Given the description of an element on the screen output the (x, y) to click on. 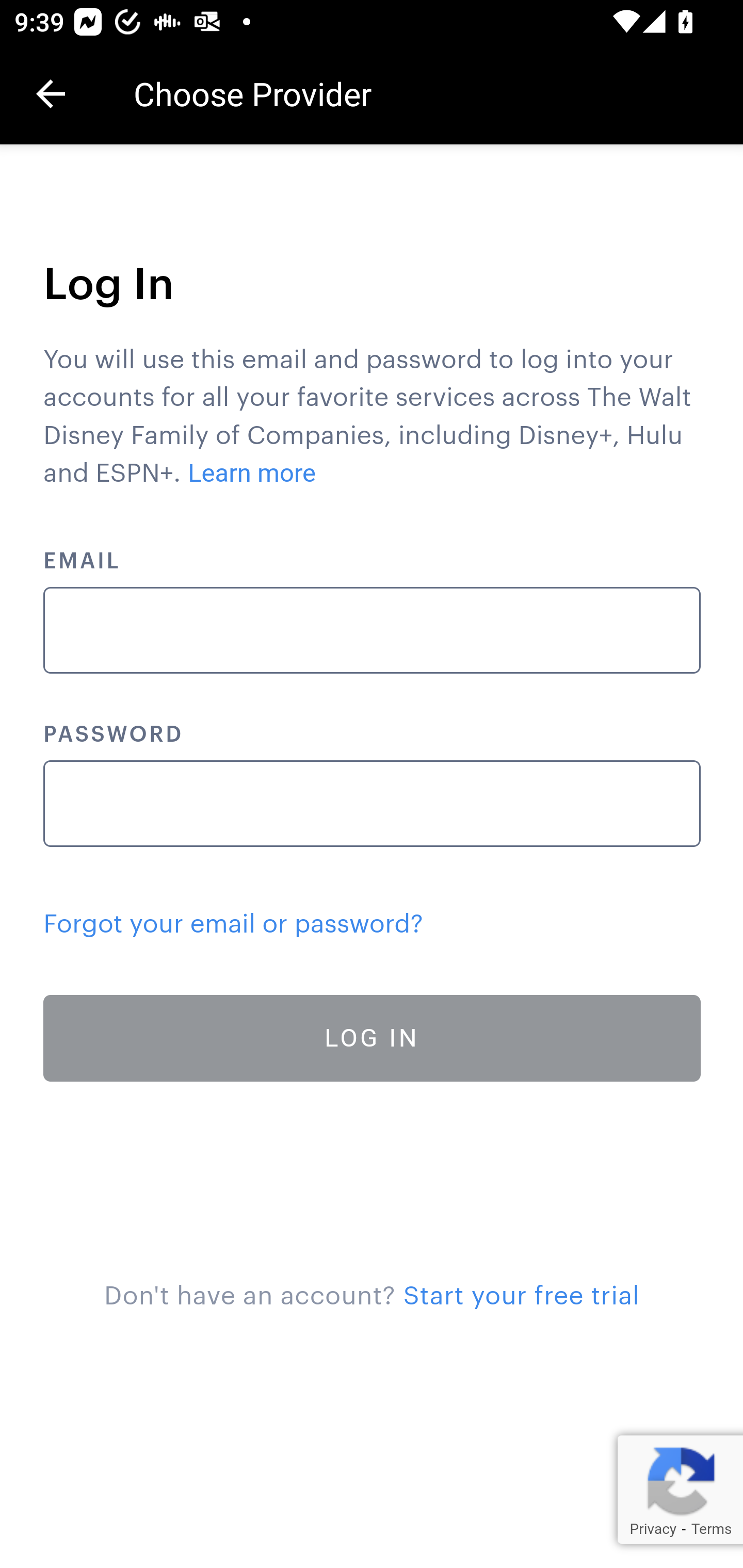
Navigate up (50, 93)
Learn more (252, 473)
Forgot your email or password? (233, 924)
LOG IN (372, 1037)
Start your free trial (521, 1295)
Privacy (652, 1528)
Terms (711, 1528)
